Given the description of an element on the screen output the (x, y) to click on. 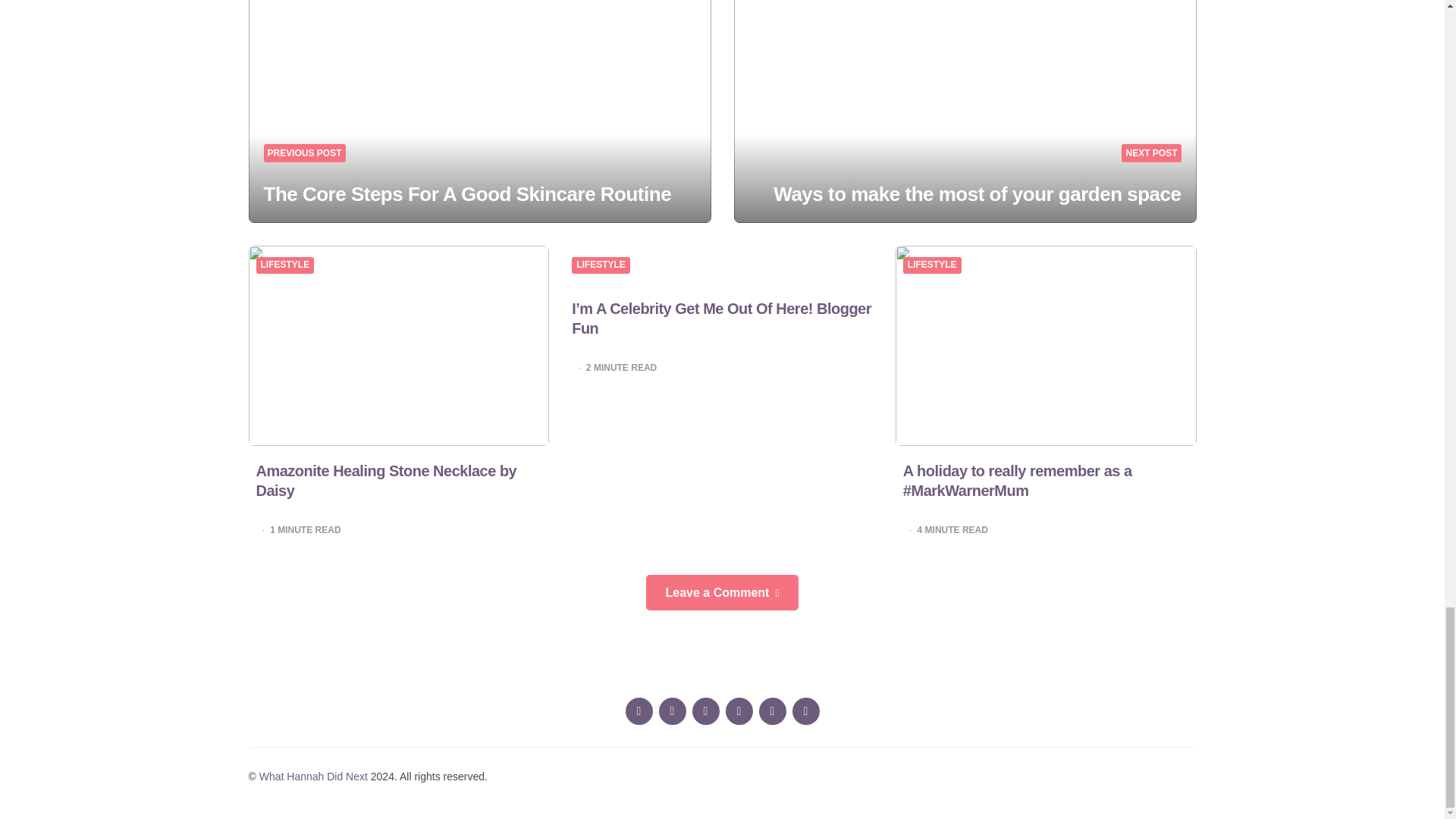
The Core Steps For A Good Skincare Routine (467, 193)
Ways to make the most of your garden space (976, 193)
LIFESTYLE (601, 265)
Amazonite Healing Stone Necklace by Daisy (386, 480)
LIFESTYLE (931, 265)
LIFESTYLE (285, 265)
